Given the description of an element on the screen output the (x, y) to click on. 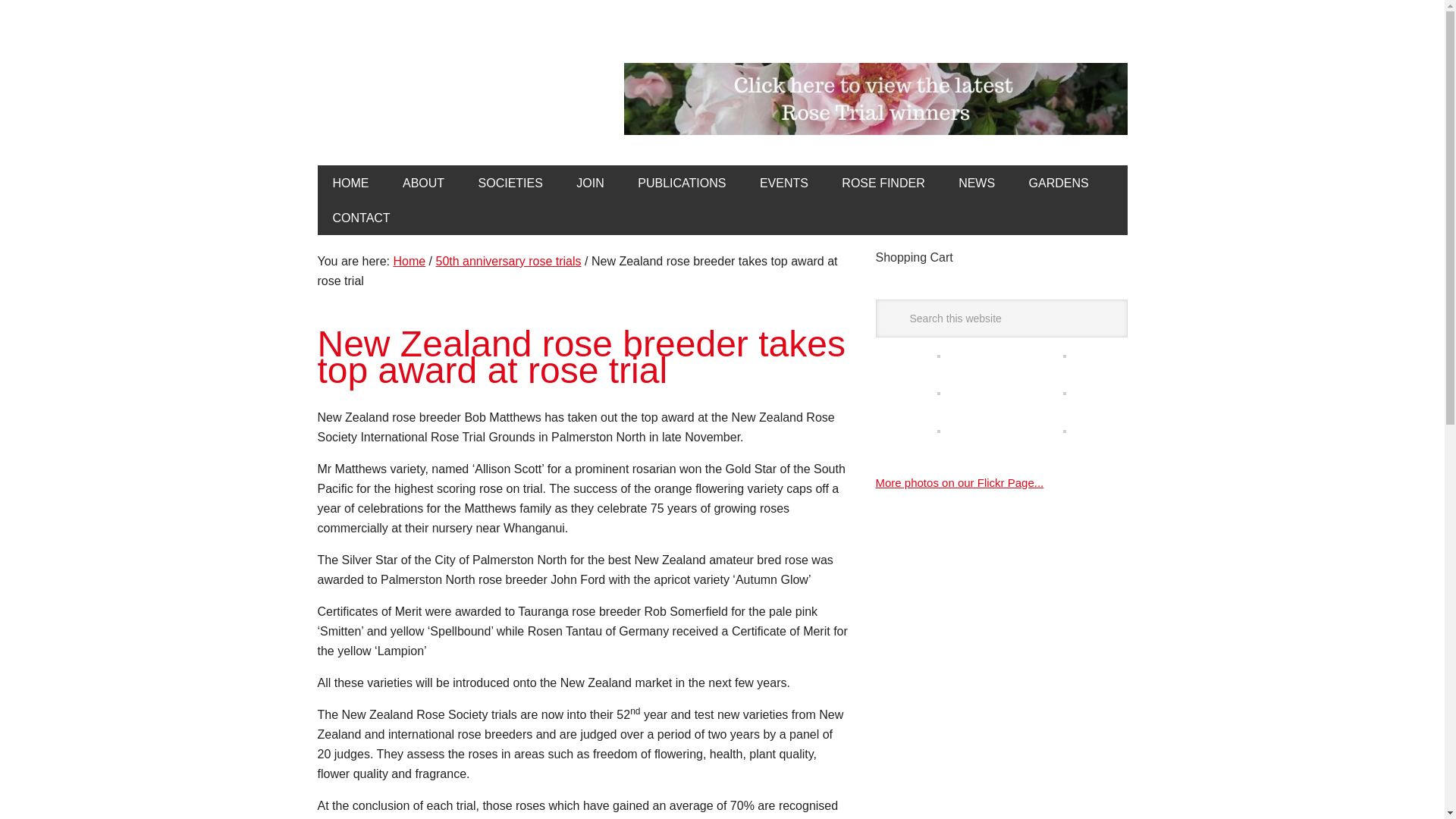
NEWS (976, 182)
Click here to see the winners (874, 99)
CONTACT (360, 217)
GARDENS (1058, 182)
JOIN (589, 182)
EVENTS (784, 182)
THE NEW ZEALAND ROSE SOCIETY (430, 96)
PUBLICATIONS (682, 182)
